Given the description of an element on the screen output the (x, y) to click on. 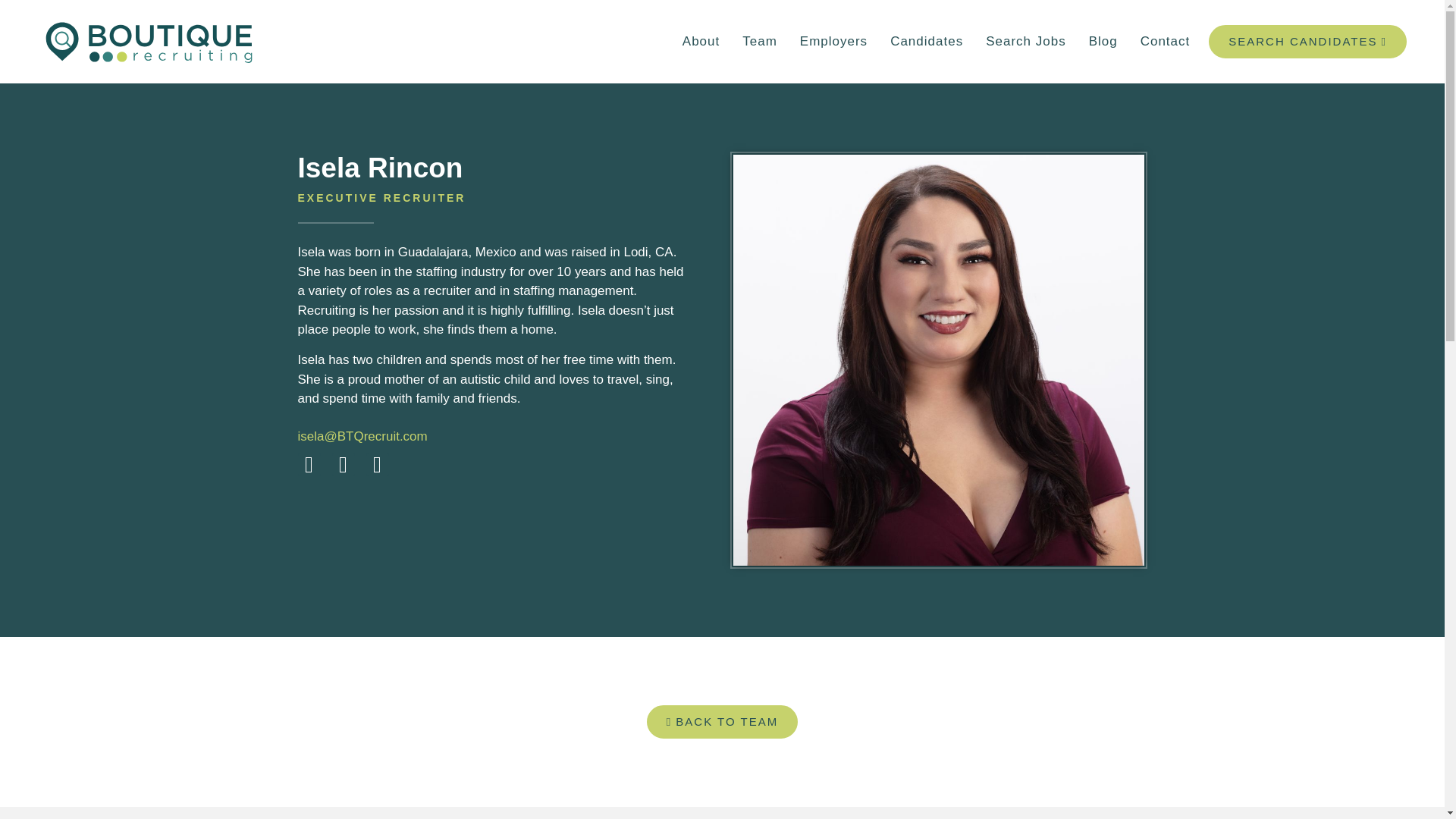
Candidates (926, 41)
About (700, 41)
BACK TO TEAM (721, 721)
Search Jobs (1025, 41)
Contact (1165, 41)
Employers (834, 41)
Team (759, 41)
Blog (1103, 41)
SEARCH CANDIDATES (1307, 41)
